Given the description of an element on the screen output the (x, y) to click on. 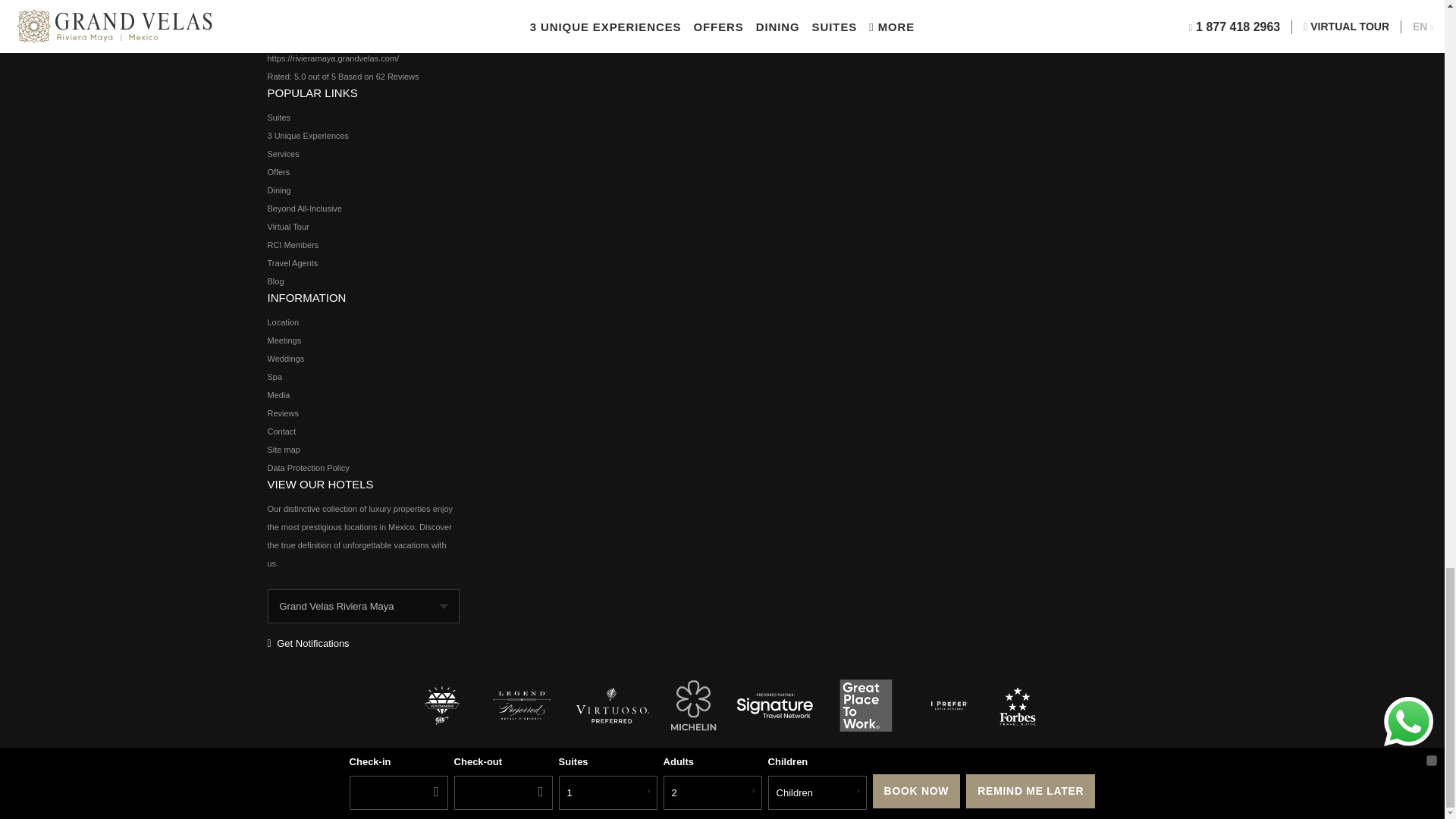
877-418-2963 (359, 4)
62 Reviews (397, 76)
1-888-320-7578 (371, 21)
